Given the description of an element on the screen output the (x, y) to click on. 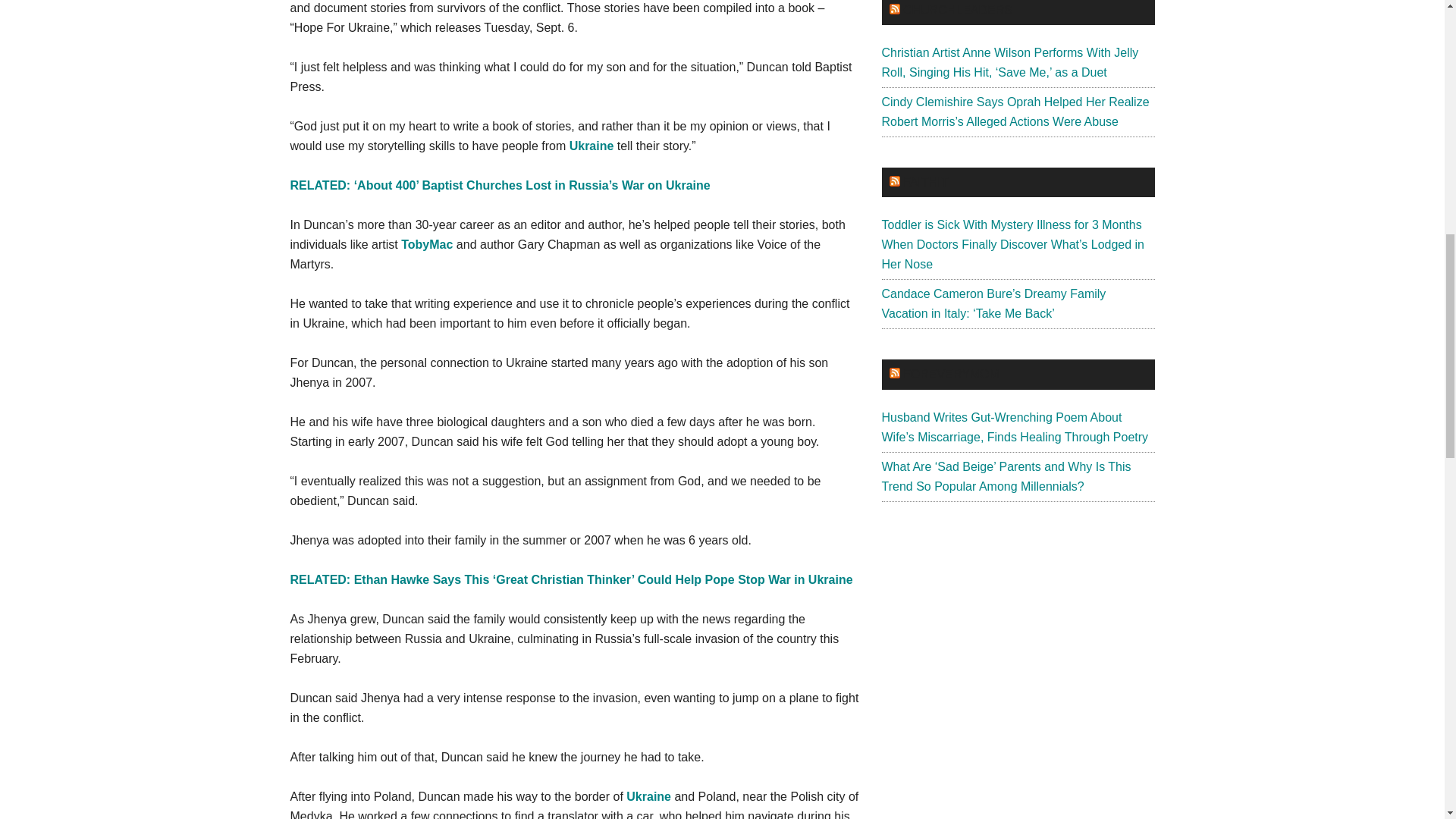
Ukraine (650, 796)
TobyMac (429, 244)
CHURCHLEADERS (956, 10)
Ukraine (593, 145)
